Given the description of an element on the screen output the (x, y) to click on. 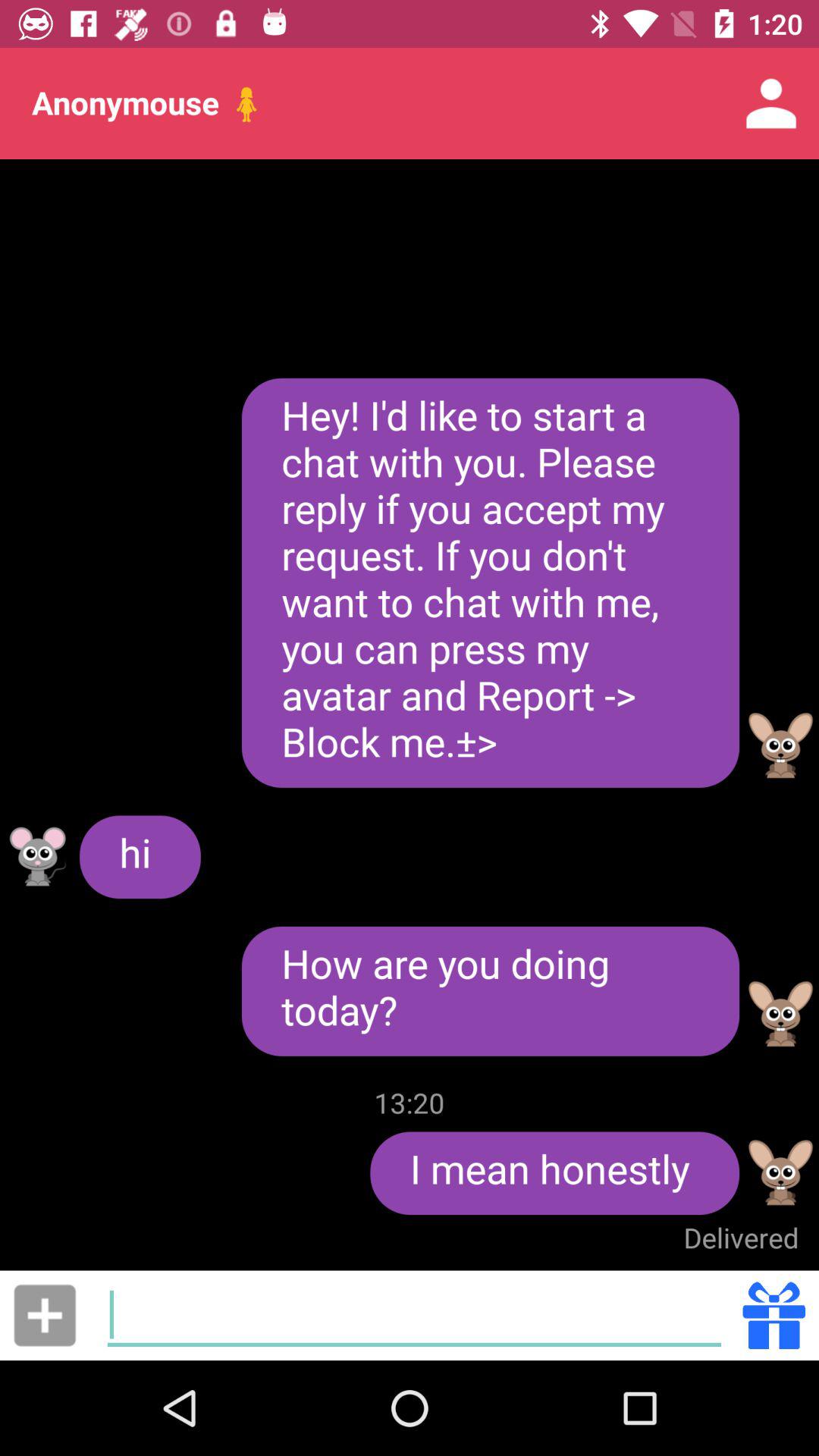
tap the icon below the delivered item (774, 1315)
